Given the description of an element on the screen output the (x, y) to click on. 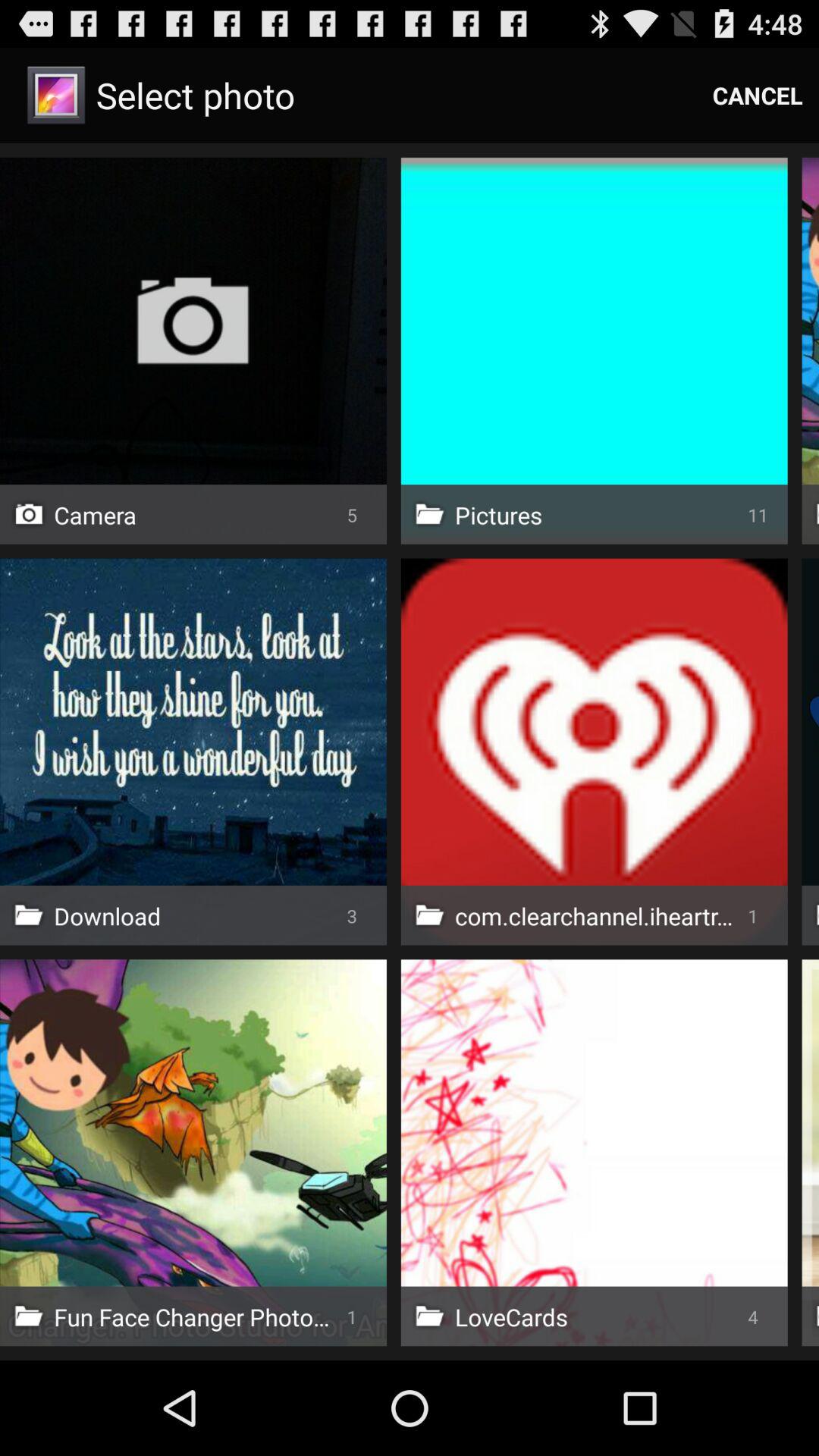
flip until cancel item (757, 95)
